Given the description of an element on the screen output the (x, y) to click on. 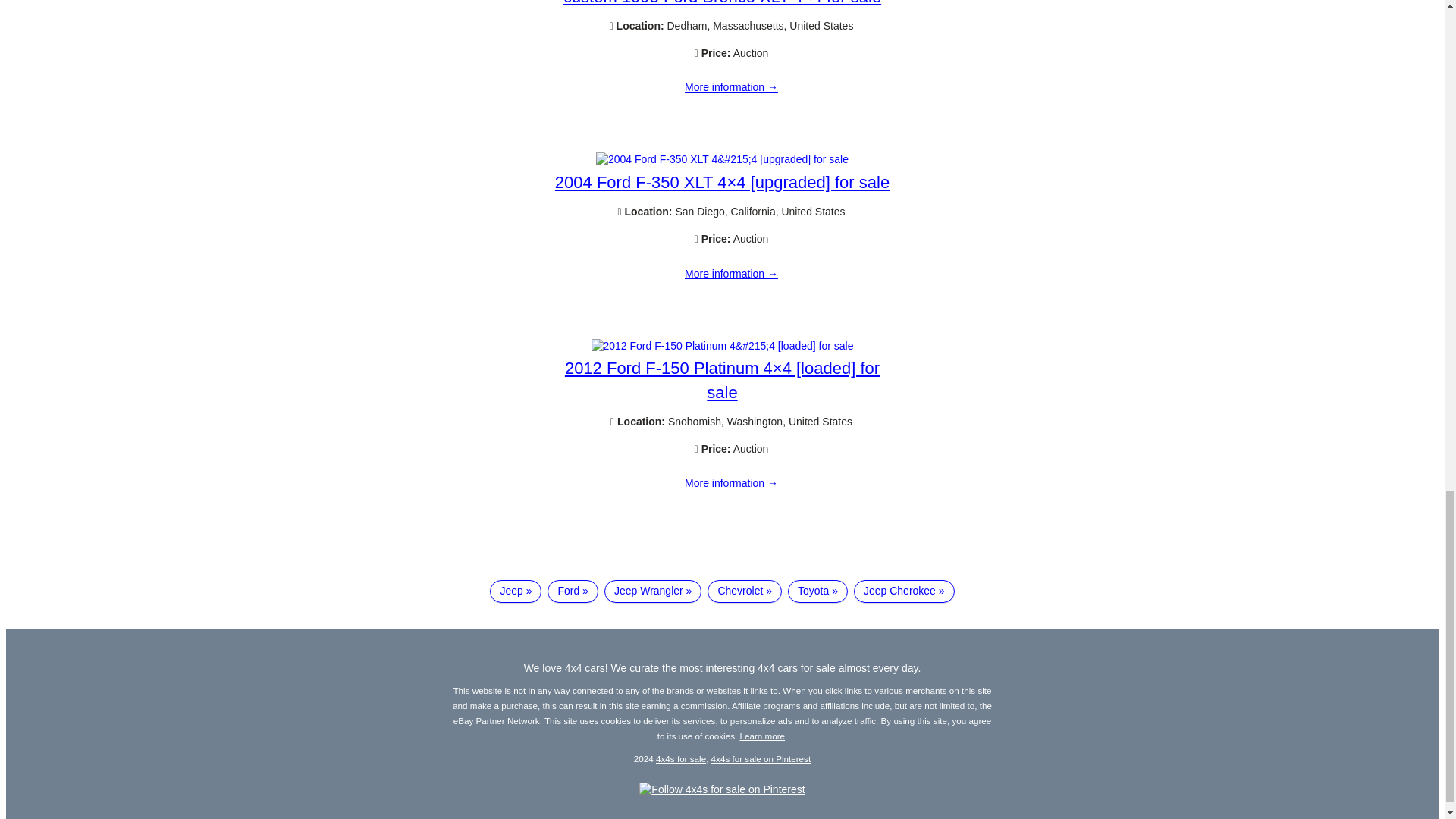
Follow 4x4s for sale on Pinterest (722, 788)
Learn more (762, 736)
Jeep (515, 590)
Jeep Wrangler (652, 590)
Toyota (817, 590)
Chevrolet (744, 590)
Jeep Cherokee (904, 590)
Ford (571, 590)
4x4s for sale (681, 758)
4x4s for sale on Pinterest (760, 758)
